Given the description of an element on the screen output the (x, y) to click on. 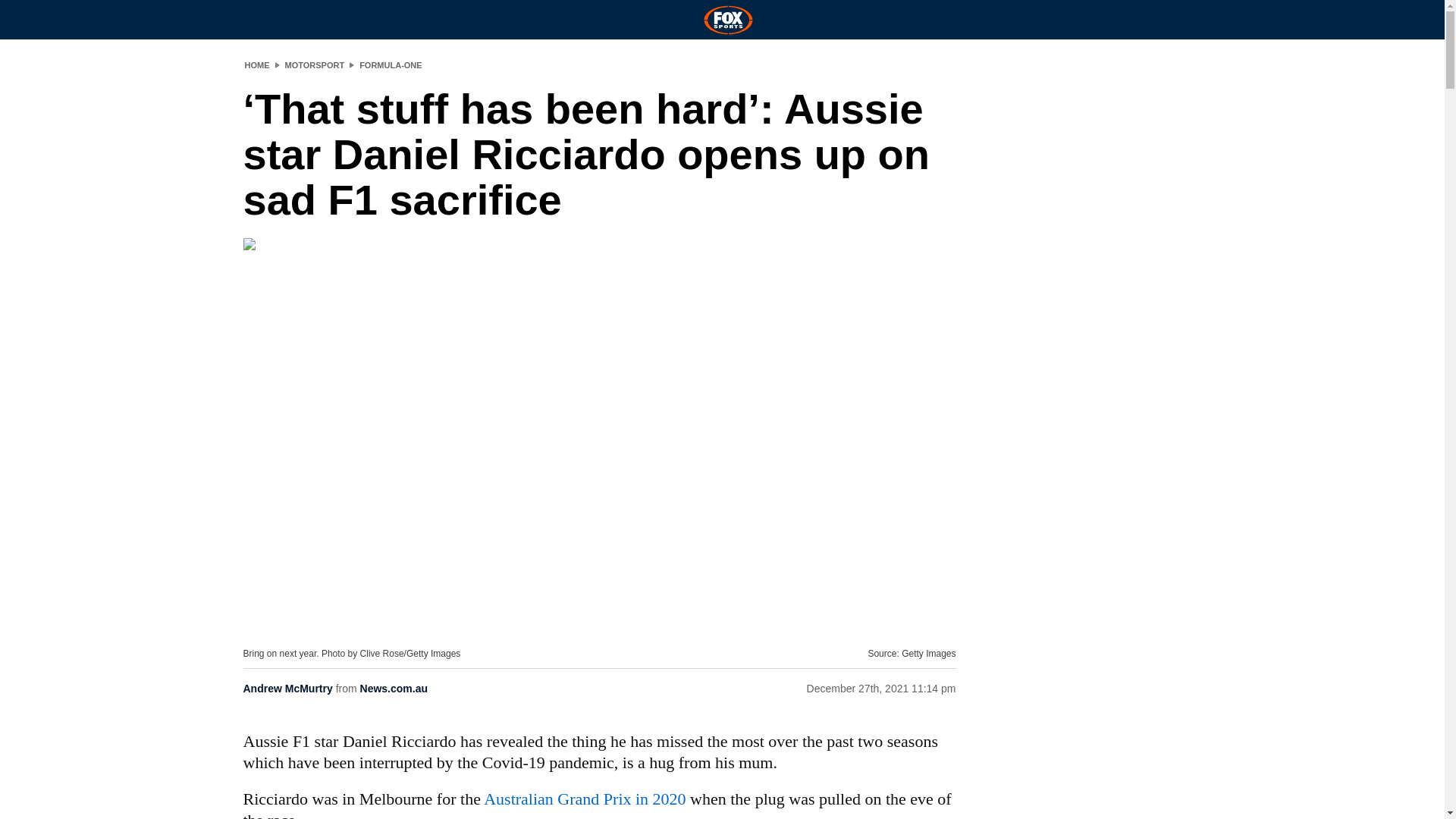
MOTORSPORT (314, 64)
www.news.com.au (584, 798)
FORMULA-ONE (390, 64)
HOME (256, 64)
Australian Grand Prix in 2020 (584, 798)
